Given the description of an element on the screen output the (x, y) to click on. 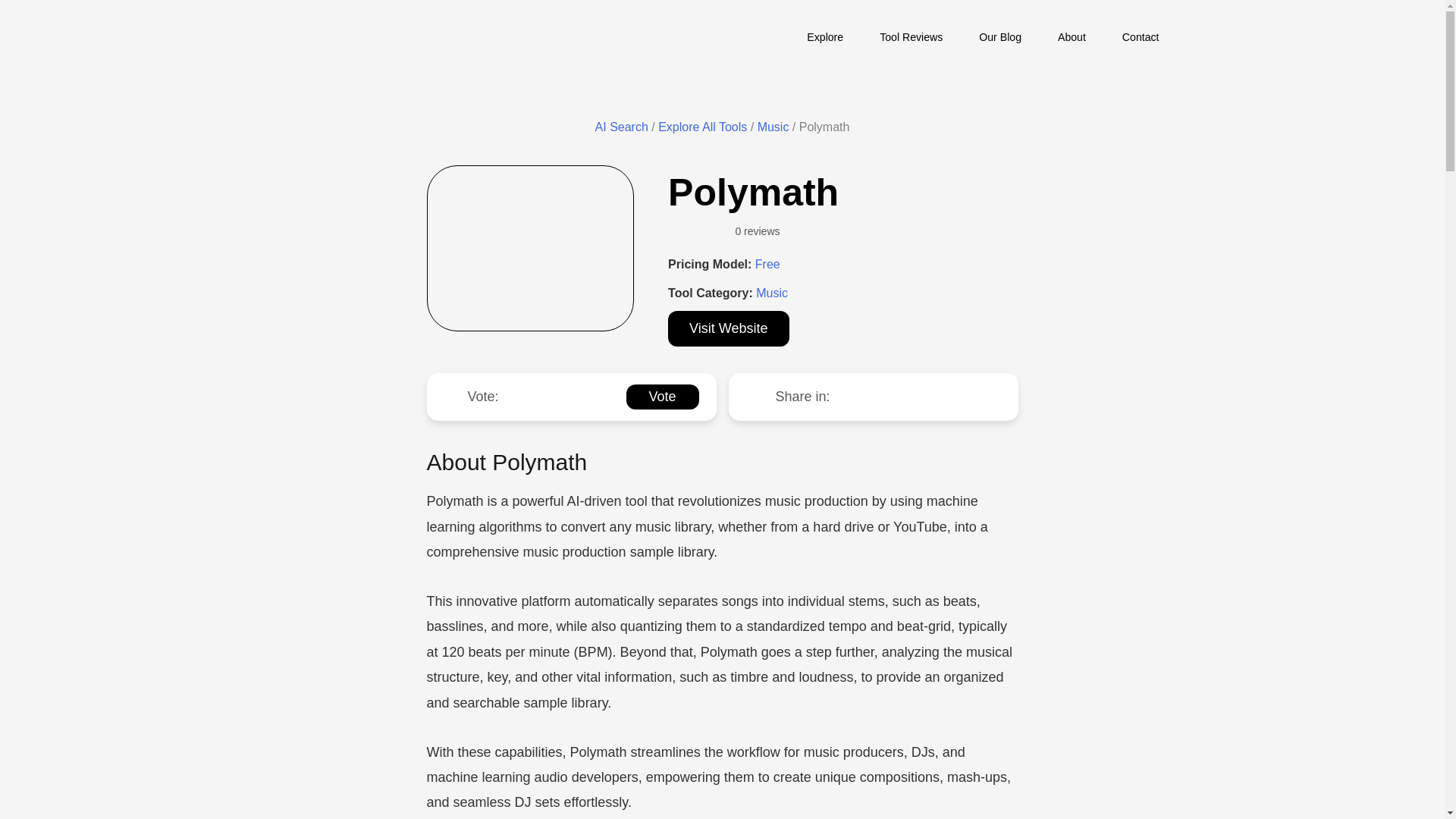
Music (773, 126)
Explore All Tools (702, 126)
Vote (662, 396)
Music (771, 292)
Free (767, 264)
AI Search (621, 126)
About (1071, 35)
Tool Reviews (910, 35)
Our Blog (999, 35)
Explore (825, 35)
